Given the description of an element on the screen output the (x, y) to click on. 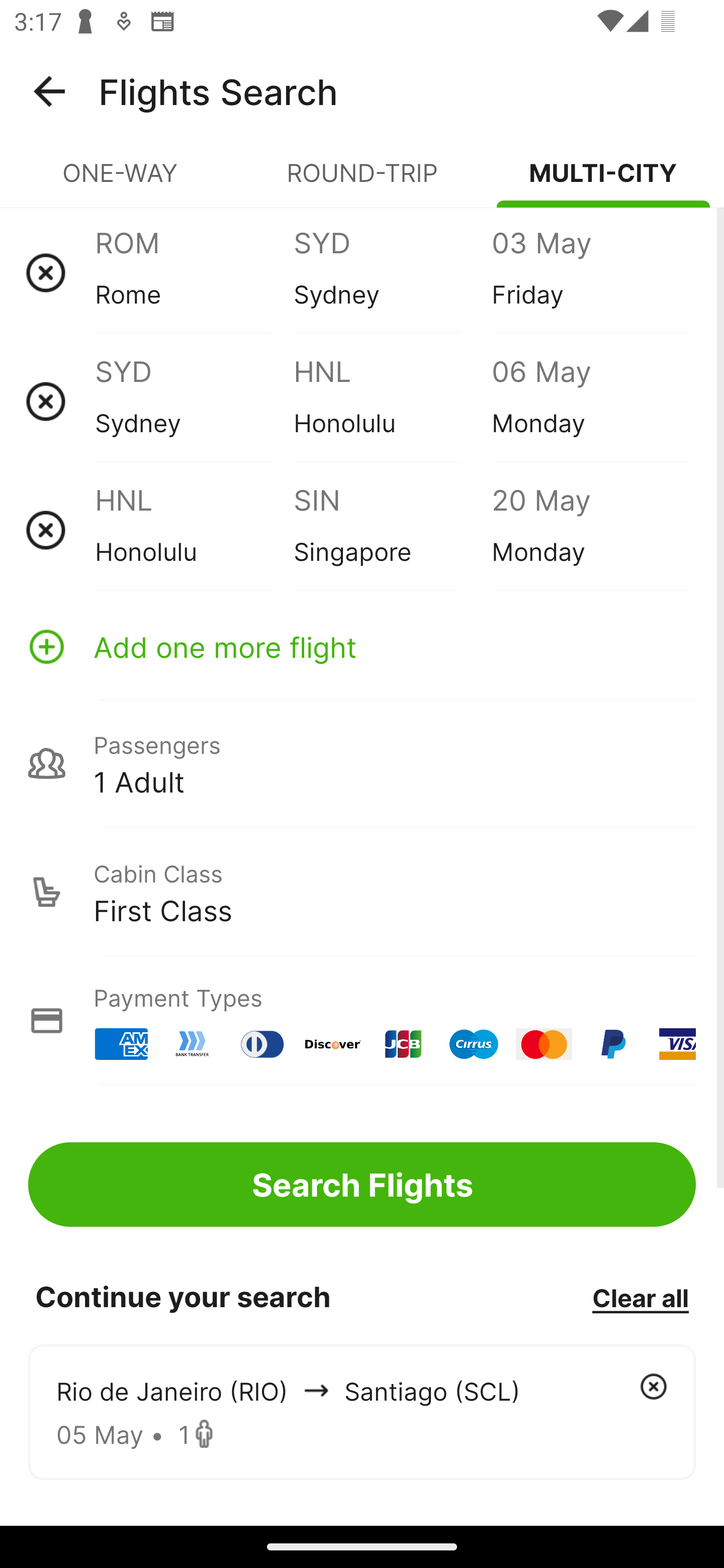
ONE-WAY (120, 180)
ROUND-TRIP (361, 180)
MULTI-CITY (603, 180)
ROM Rome (193, 272)
SYD Sydney (392, 272)
03 May Friday (590, 272)
SYD Sydney (193, 401)
HNL Honolulu (392, 401)
06 May Monday (590, 401)
HNL Honolulu (193, 529)
SIN Singapore (392, 529)
20 May Monday (590, 529)
Add one more flight (362, 646)
Passengers 1 Adult (362, 762)
Cabin Class First Class (362, 891)
Payment Types (362, 1020)
Search Flights (361, 1184)
Clear all (640, 1297)
